Given the description of an element on the screen output the (x, y) to click on. 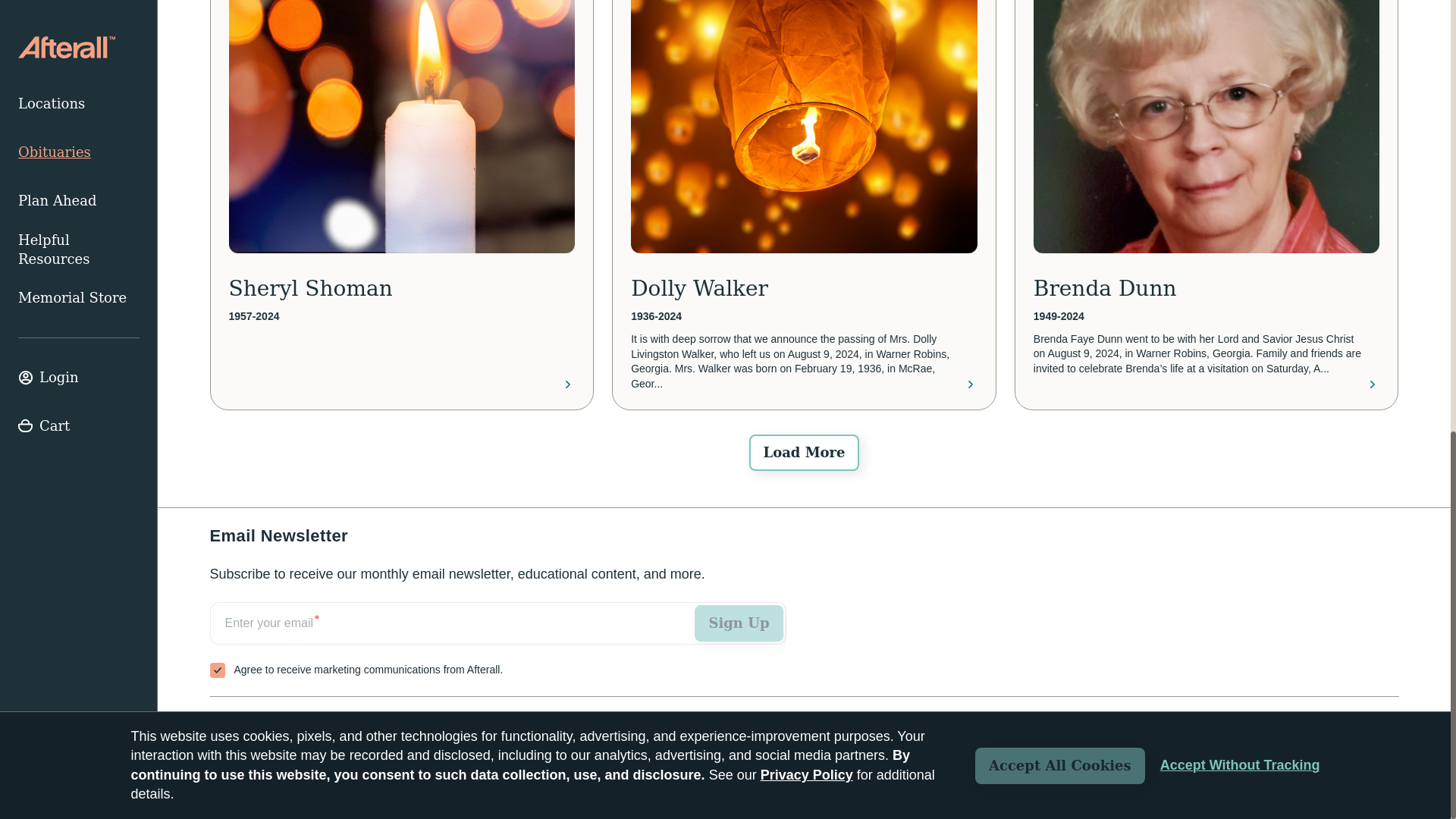
Track an Order (257, 724)
Sign Up (341, 724)
Load More (738, 623)
Email Newsletter (804, 452)
Privacy Policy (497, 639)
